Given the description of an element on the screen output the (x, y) to click on. 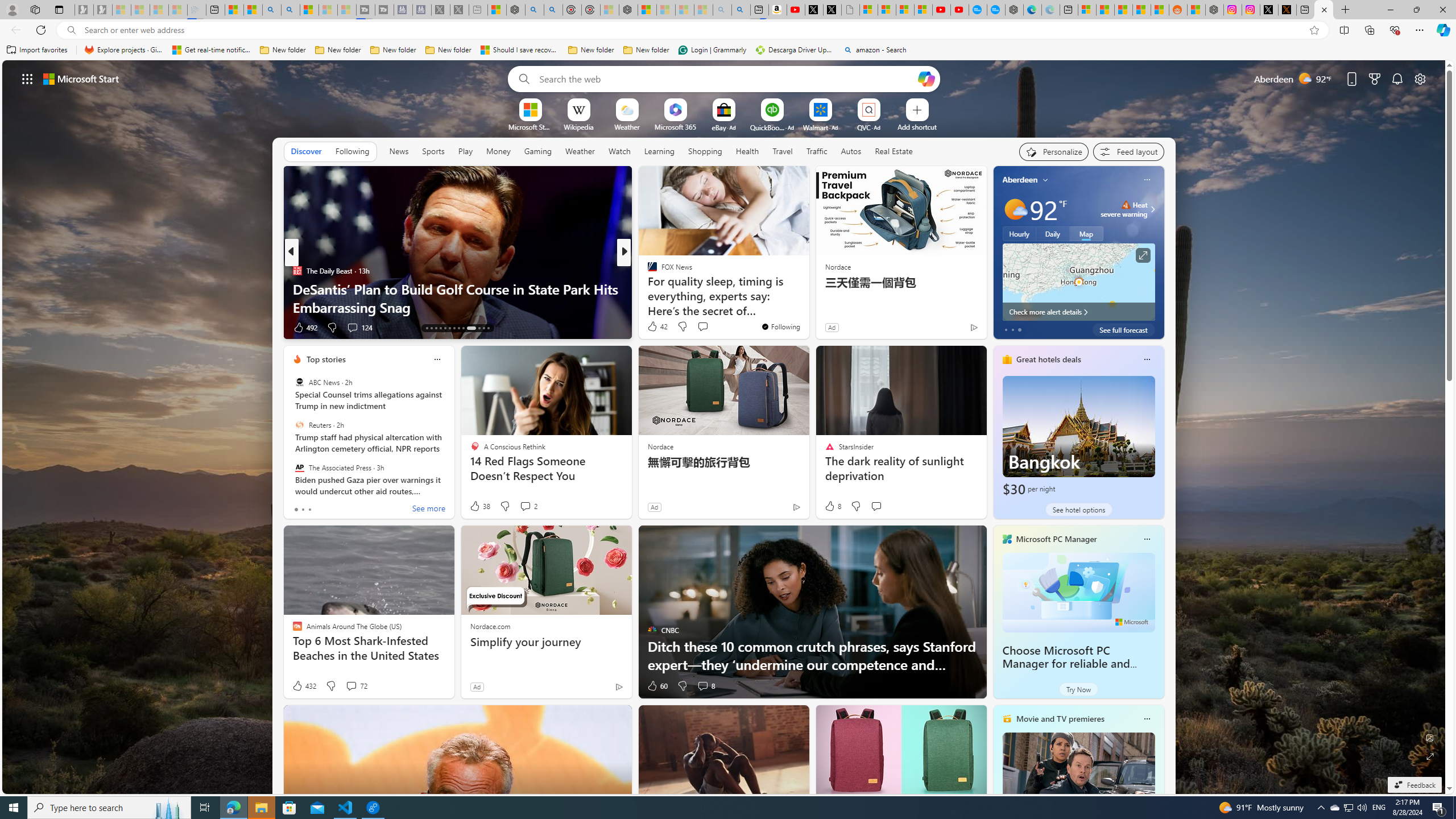
272 Like (654, 327)
View comments 4 Comment (698, 327)
Import favorites (36, 49)
View comments 8 Comment (703, 685)
BRAINY DOSE (647, 270)
Real Estate (893, 151)
60 Like (657, 685)
AutomationID: tab-23 (478, 328)
